Given the description of an element on the screen output the (x, y) to click on. 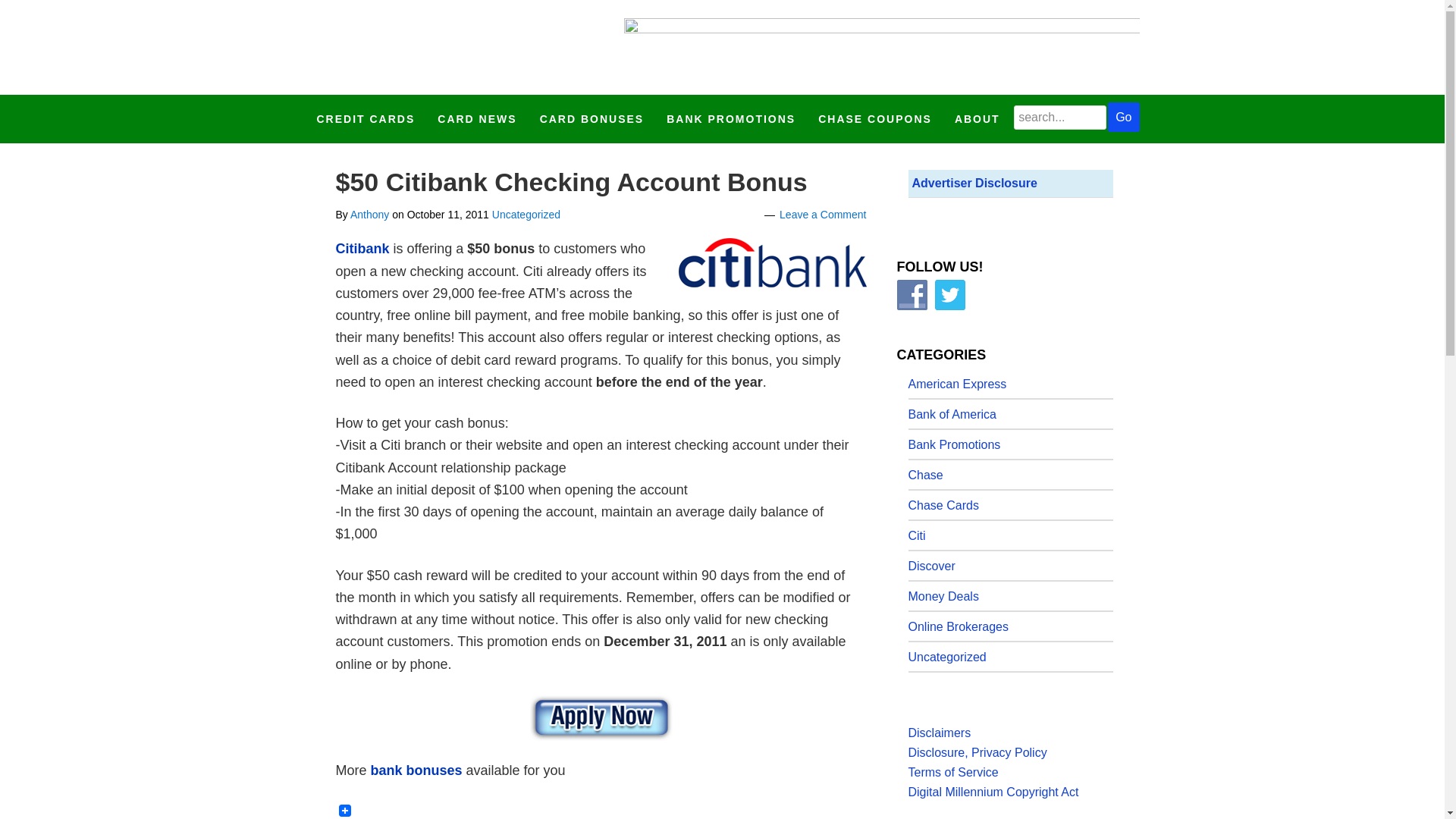
BANK PROMOTIONS (730, 119)
CREDIT CARDS (365, 119)
Leave a Comment (822, 214)
CARD NEWS (476, 119)
Anthony (369, 214)
CHASE COUPONS (874, 119)
Uncategorized (526, 214)
Go (1123, 116)
Follow Us on Facebook (911, 294)
bank bonuses (414, 770)
American Express (957, 383)
CardViews (398, 47)
Follow Us on Twitter (948, 294)
Go (1123, 116)
CARD BONUSES (592, 119)
